Given the description of an element on the screen output the (x, y) to click on. 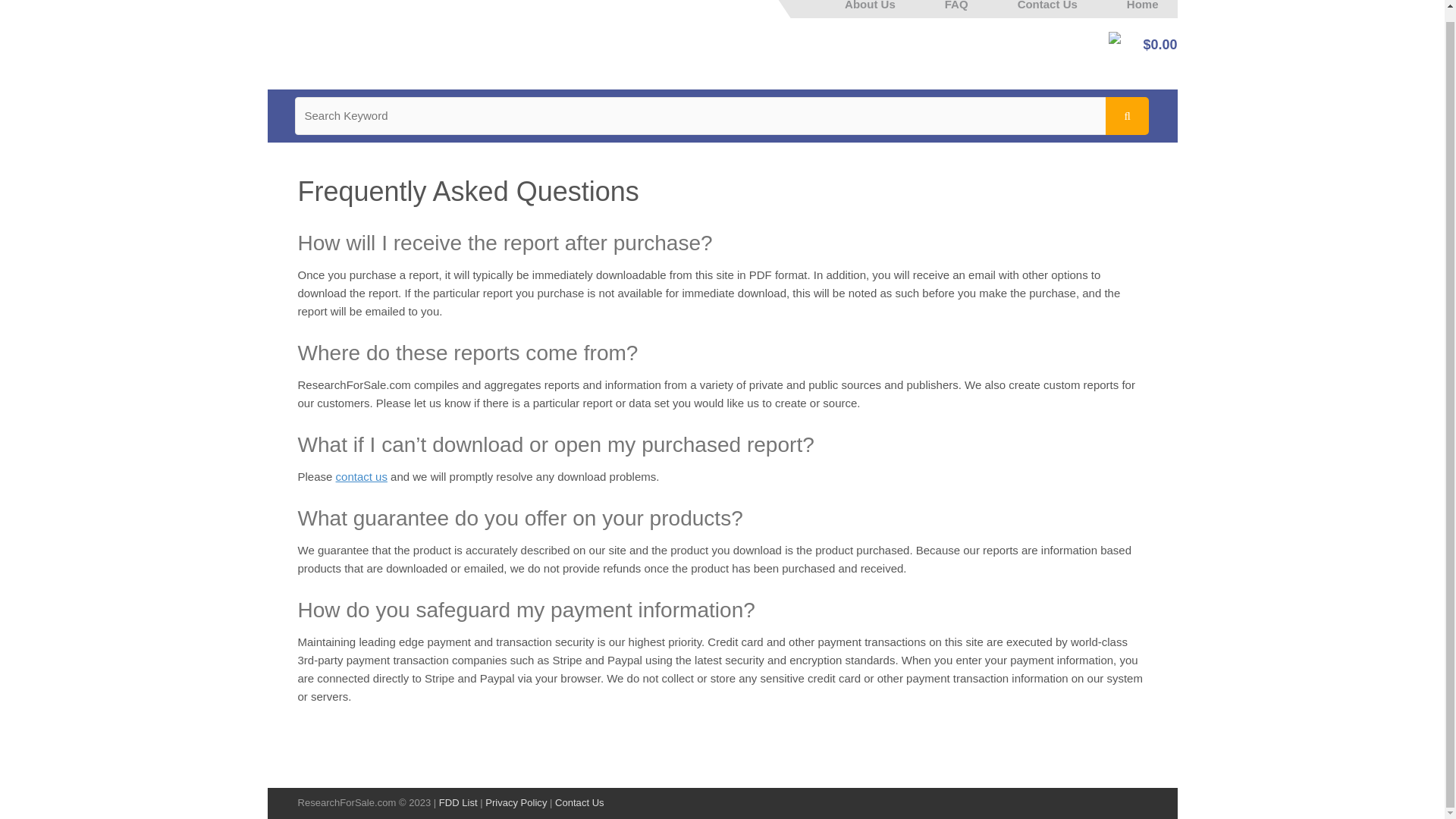
FDD List (458, 802)
Home (1142, 5)
Contact Us (1047, 5)
Contact Us (579, 802)
FAQ (956, 5)
Privacy Policy (515, 802)
About Us (879, 5)
contact us (361, 476)
